Given the description of an element on the screen output the (x, y) to click on. 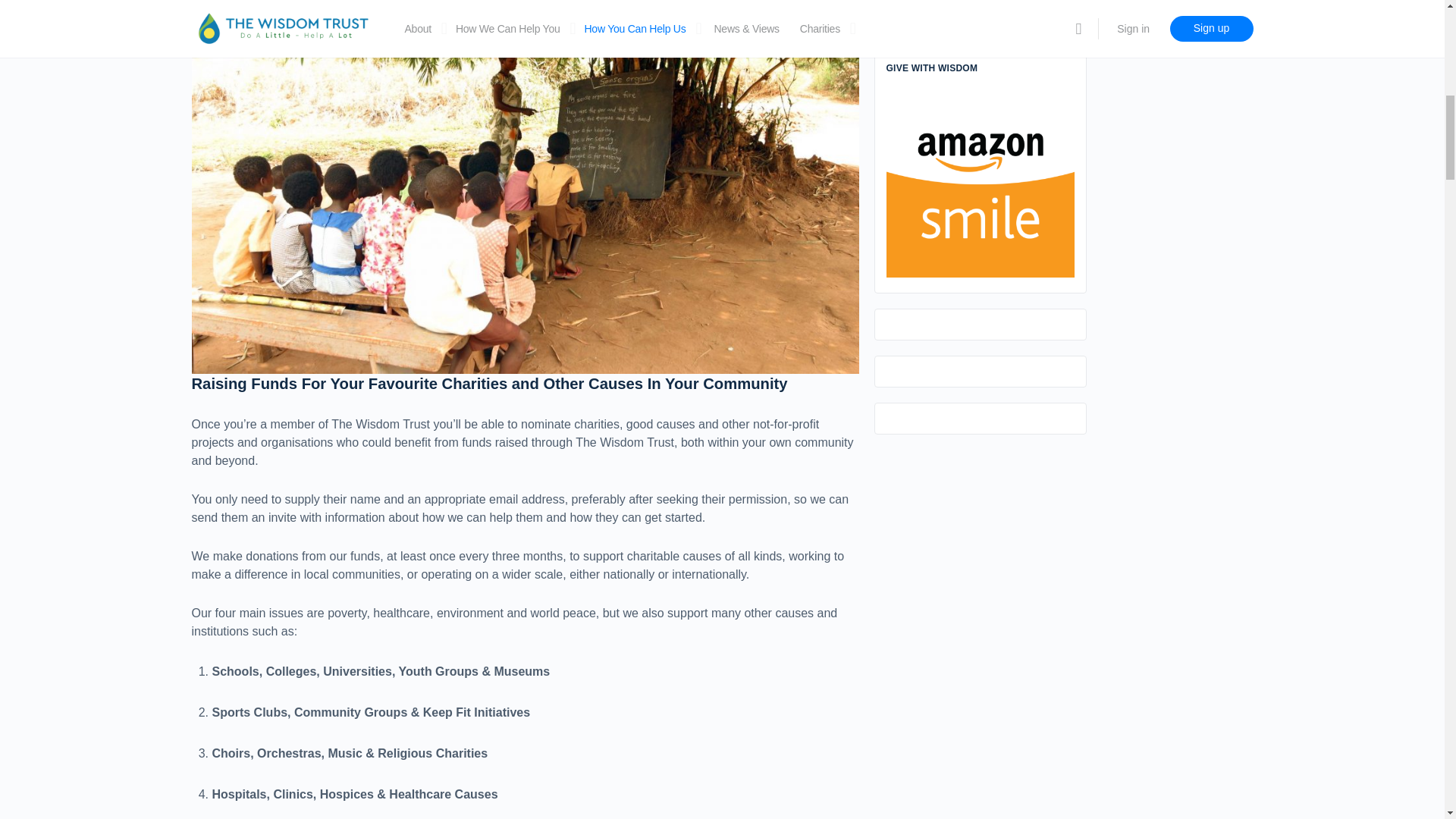
Give With Wisdom (979, 182)
